Given the description of an element on the screen output the (x, y) to click on. 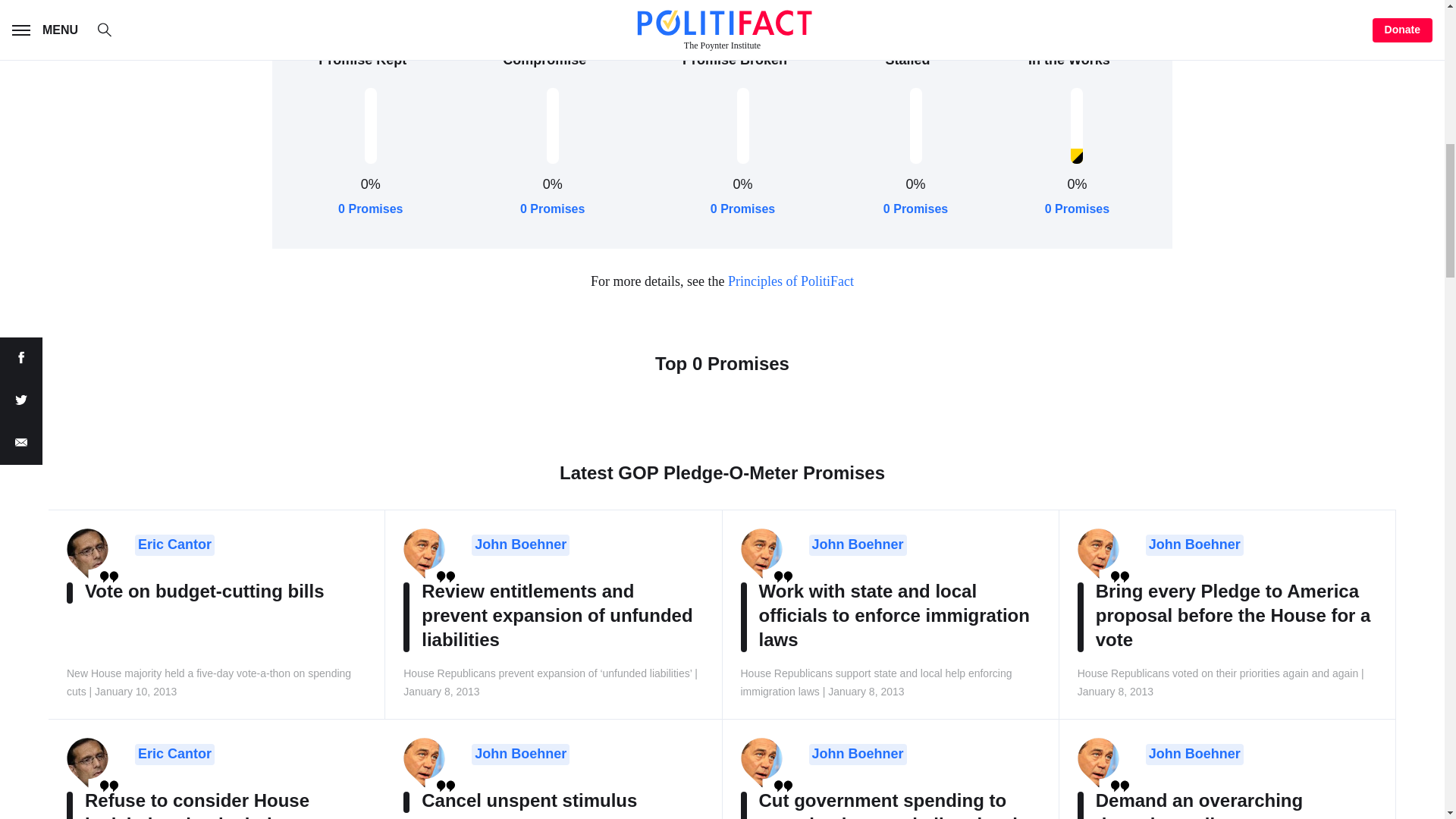
House Republicans voted on their priorities again and again (1194, 545)
Stimulus payments have chugged on (520, 753)
